Given the description of an element on the screen output the (x, y) to click on. 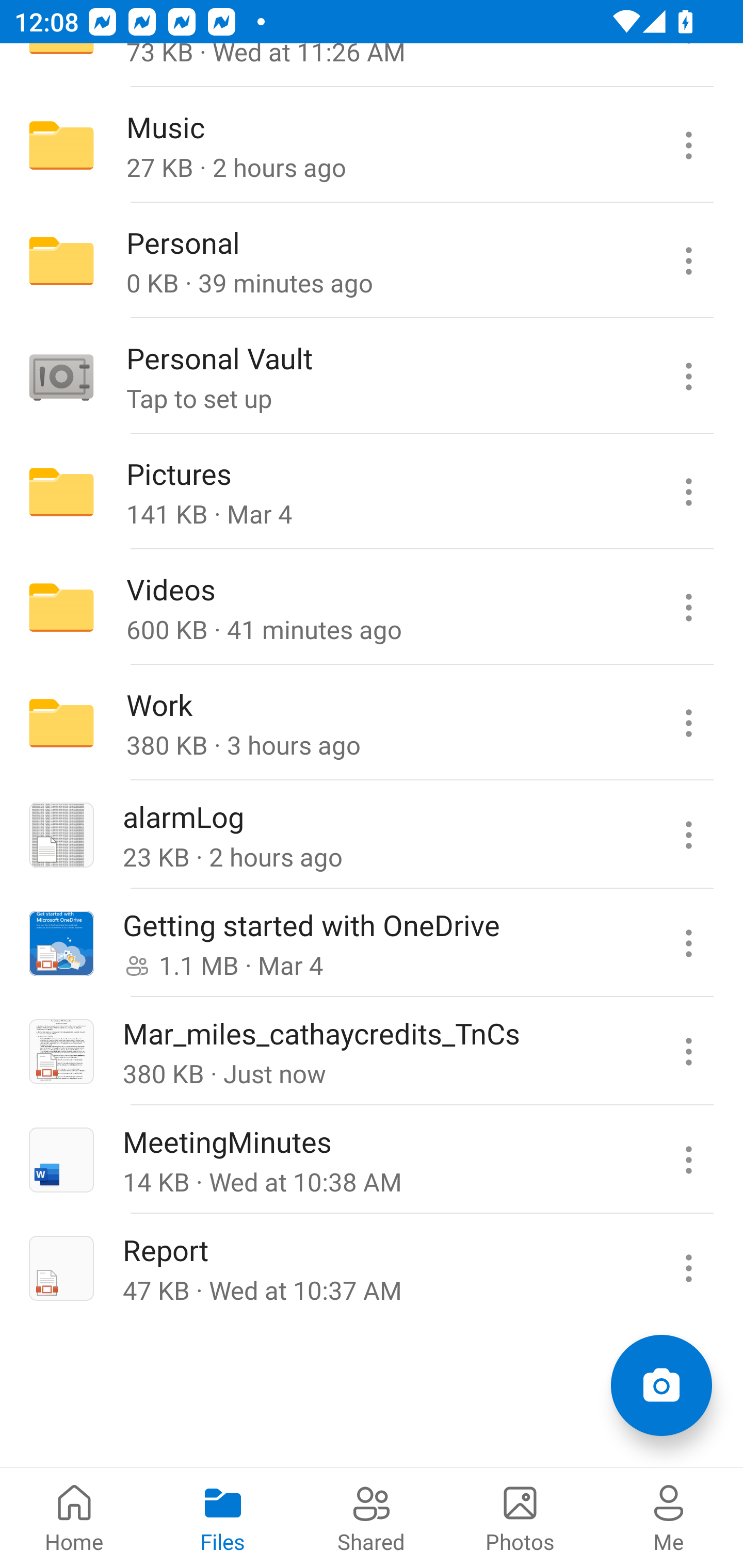
Folder Music 27 KB · 2 hours ago Music commands (371, 145)
Music commands (688, 145)
Personal commands (688, 260)
Personal Vault commands (688, 376)
Folder Pictures 141 KB · Mar 4 Pictures commands (371, 492)
Pictures commands (688, 492)
Videos commands (688, 607)
Folder Work 380 KB · 3 hours ago Work commands (371, 722)
Work commands (688, 722)
alarmLog commands (688, 834)
Getting started with OneDrive commands (688, 943)
Mar_miles_cathaycredits_TnCs commands (688, 1051)
MeetingMinutes commands (688, 1159)
Report commands (688, 1267)
Add items Scan (660, 1385)
Home pivot Home (74, 1517)
Shared pivot Shared (371, 1517)
Photos pivot Photos (519, 1517)
Me pivot Me (668, 1517)
